Given the description of an element on the screen output the (x, y) to click on. 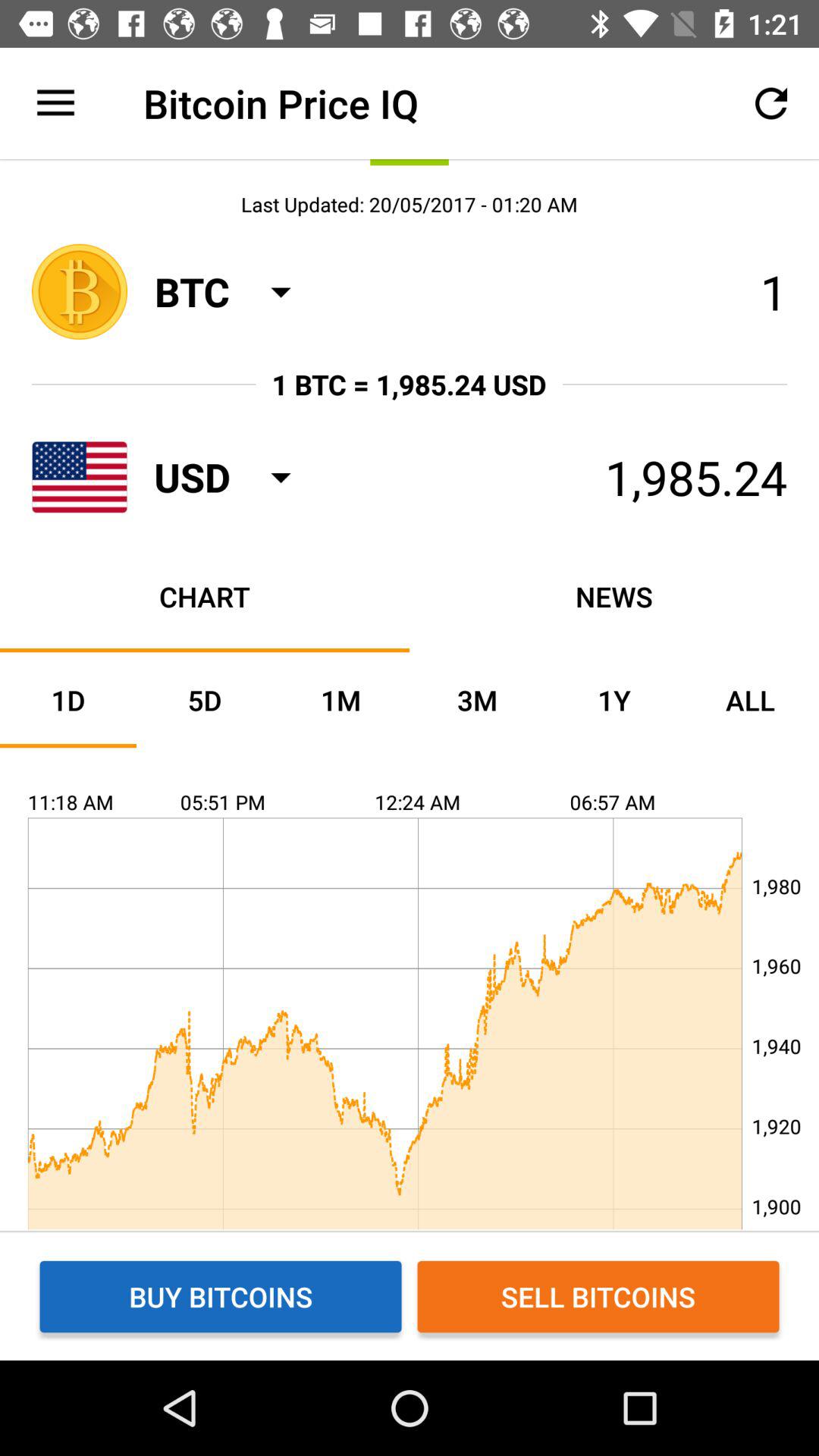
press item next to the buy bitcoins (598, 1296)
